Given the description of an element on the screen output the (x, y) to click on. 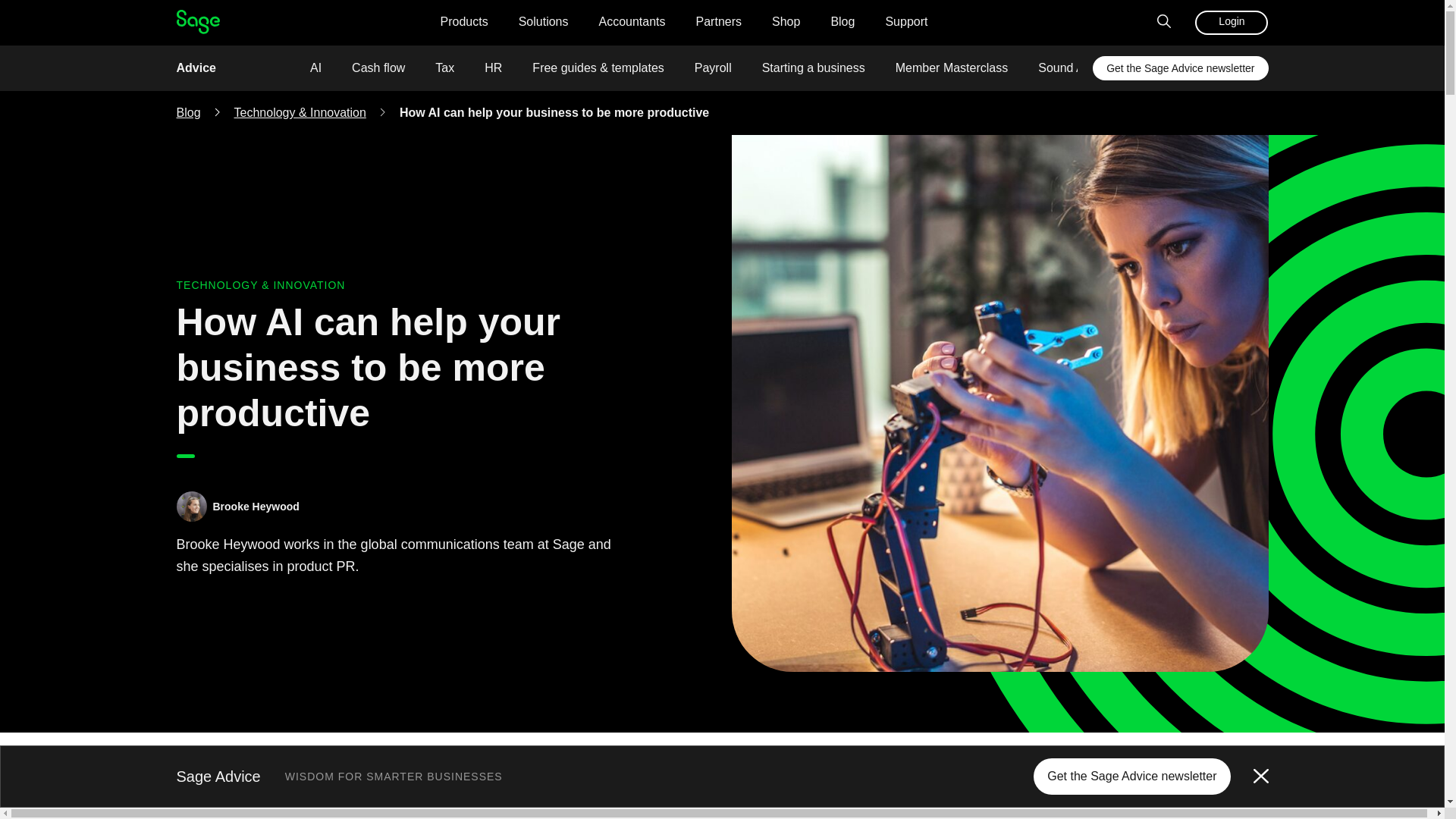
Products (464, 22)
Solutions (543, 22)
